Given the description of an element on the screen output the (x, y) to click on. 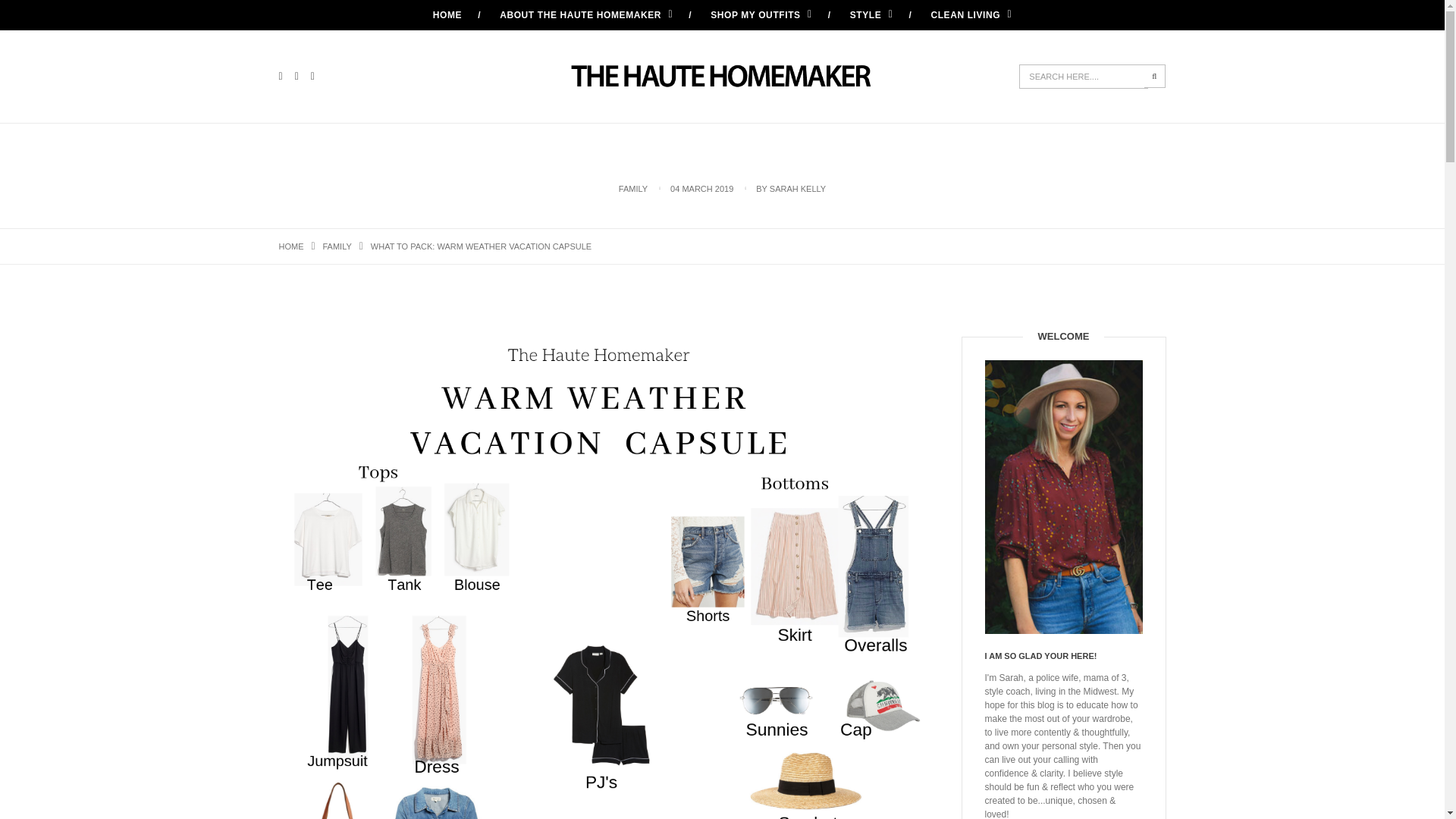
STYLE (871, 15)
HOME (446, 15)
FAMILY (632, 188)
Browse to: Home (291, 245)
Family (337, 245)
HOME (291, 245)
SARAH KELLY (797, 188)
ABOUT THE HAUTE HOMEMAKER (585, 15)
CLEAN LIVING (970, 15)
FAMILY (337, 245)
